Given the description of an element on the screen output the (x, y) to click on. 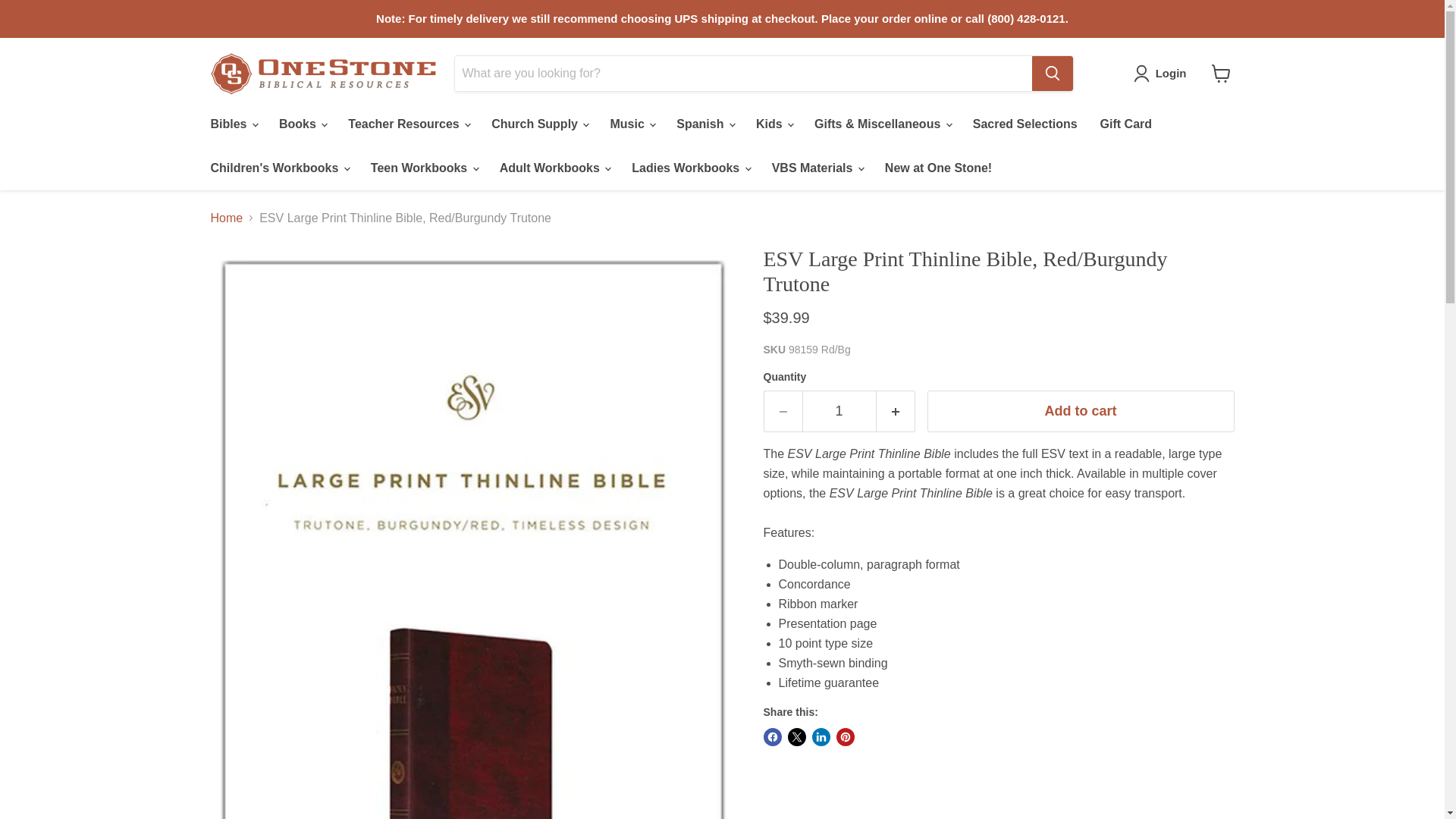
Login (1163, 73)
View cart (1221, 73)
1 (839, 411)
